Given the description of an element on the screen output the (x, y) to click on. 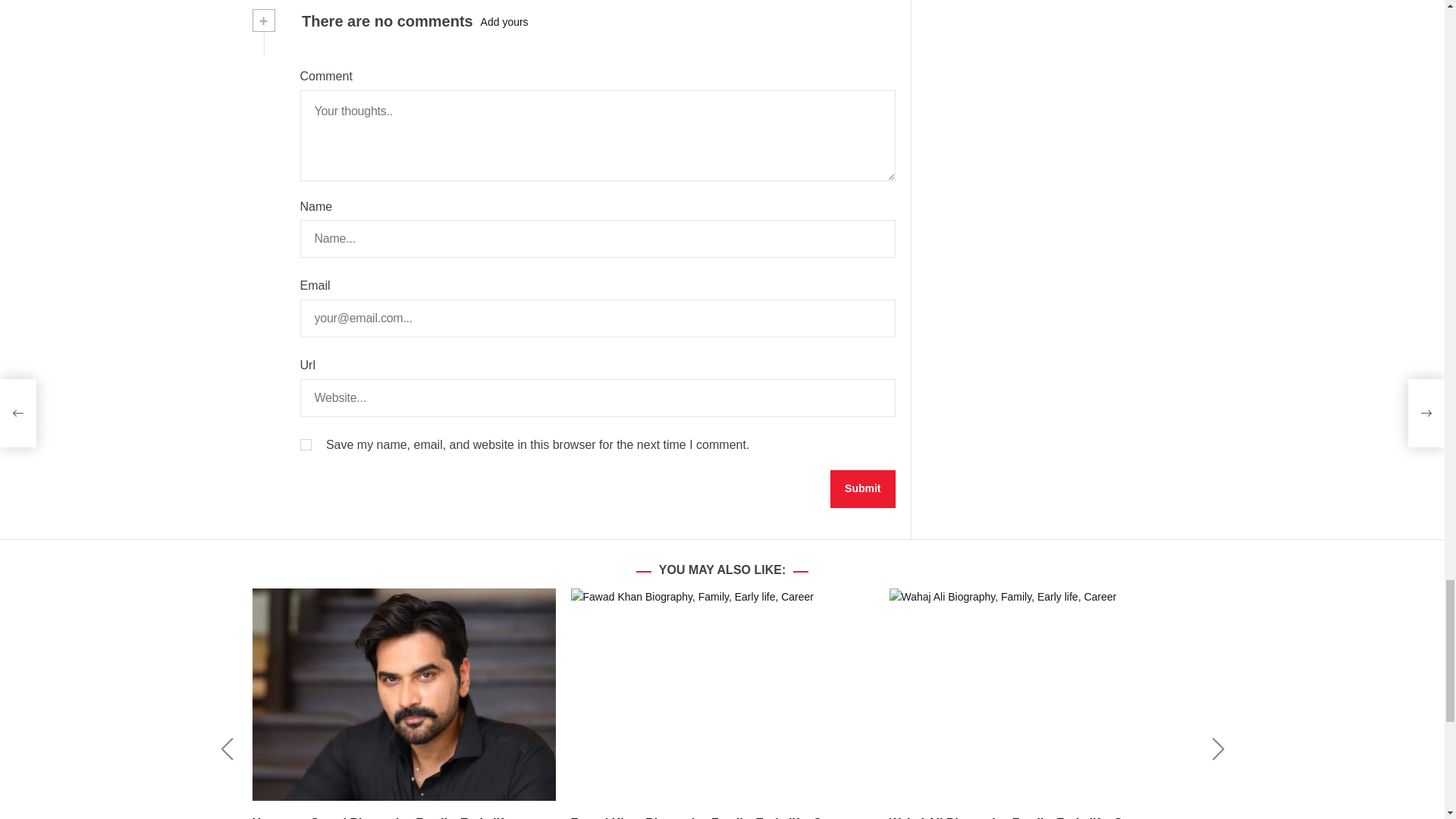
yes (305, 444)
Submit (862, 488)
